Given the description of an element on the screen output the (x, y) to click on. 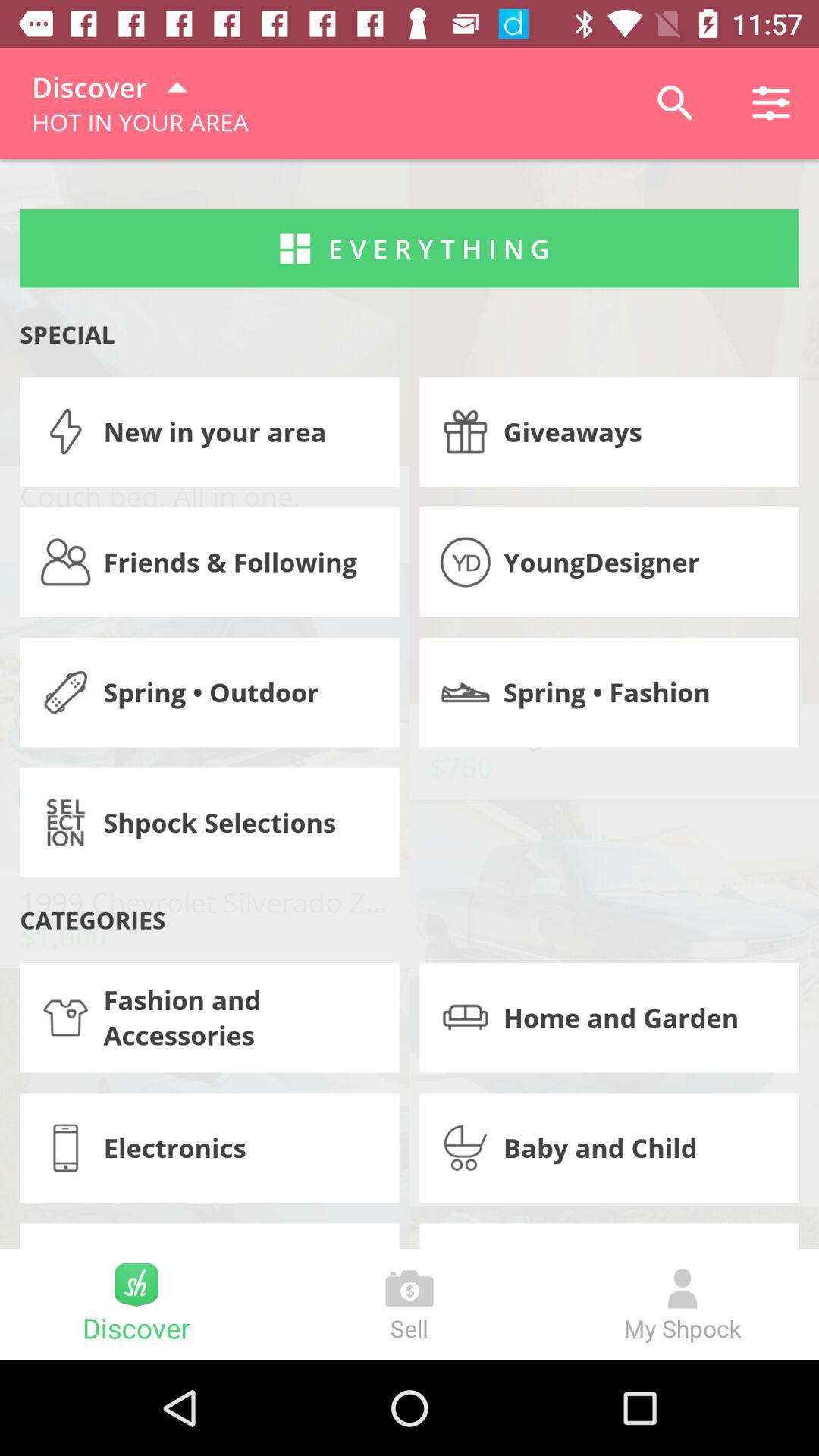
select the gift icon left side of text giveaways (465, 432)
